Given the description of an element on the screen output the (x, y) to click on. 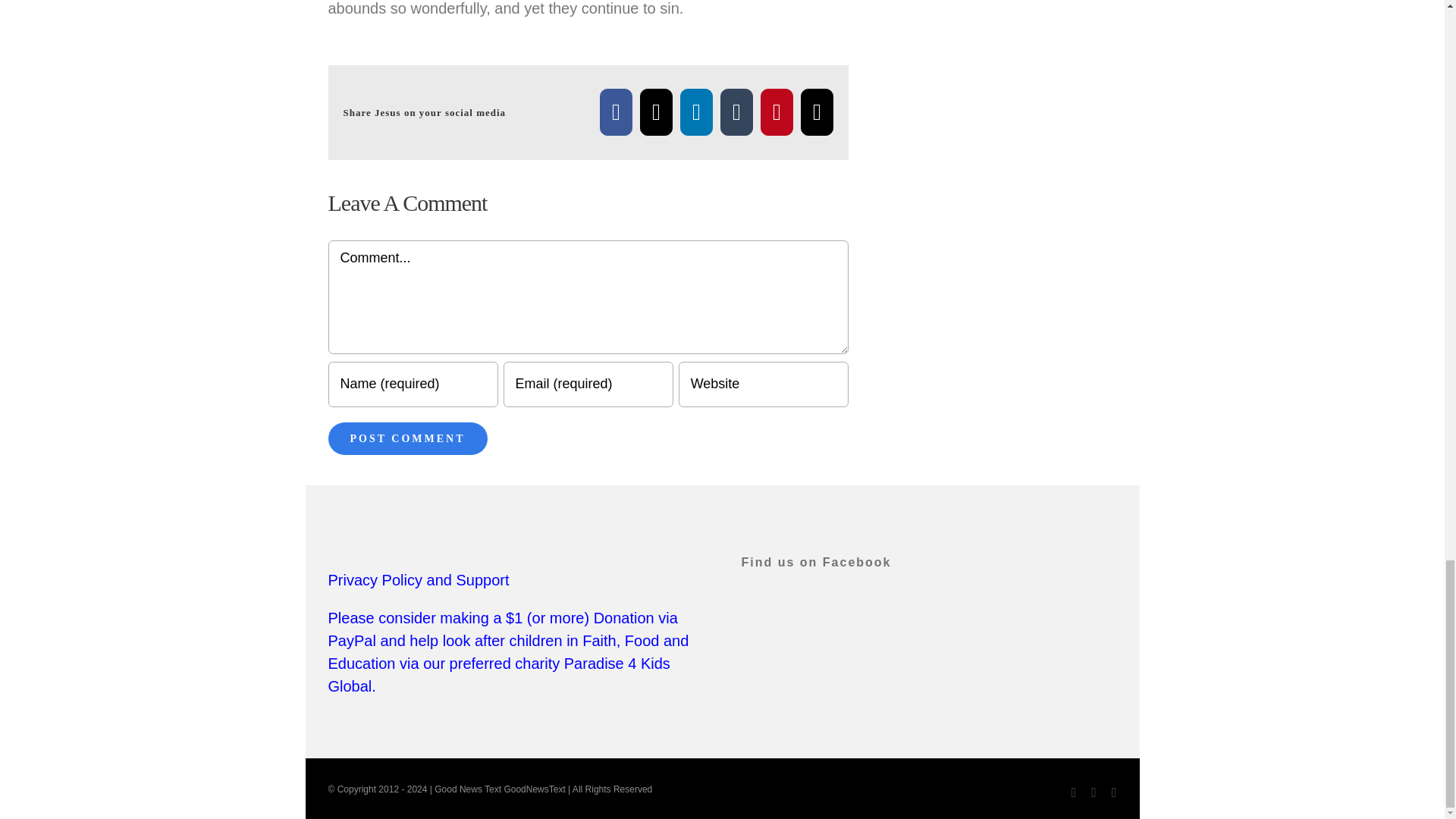
X (656, 111)
Instagram (1093, 792)
Pinterest (776, 111)
PayPal (1114, 792)
Email (816, 111)
Facebook (1074, 792)
Facebook (615, 111)
Tumblr (736, 111)
Post Comment (406, 438)
Facebook (615, 111)
LinkedIn (696, 111)
X (656, 111)
